Given the description of an element on the screen output the (x, y) to click on. 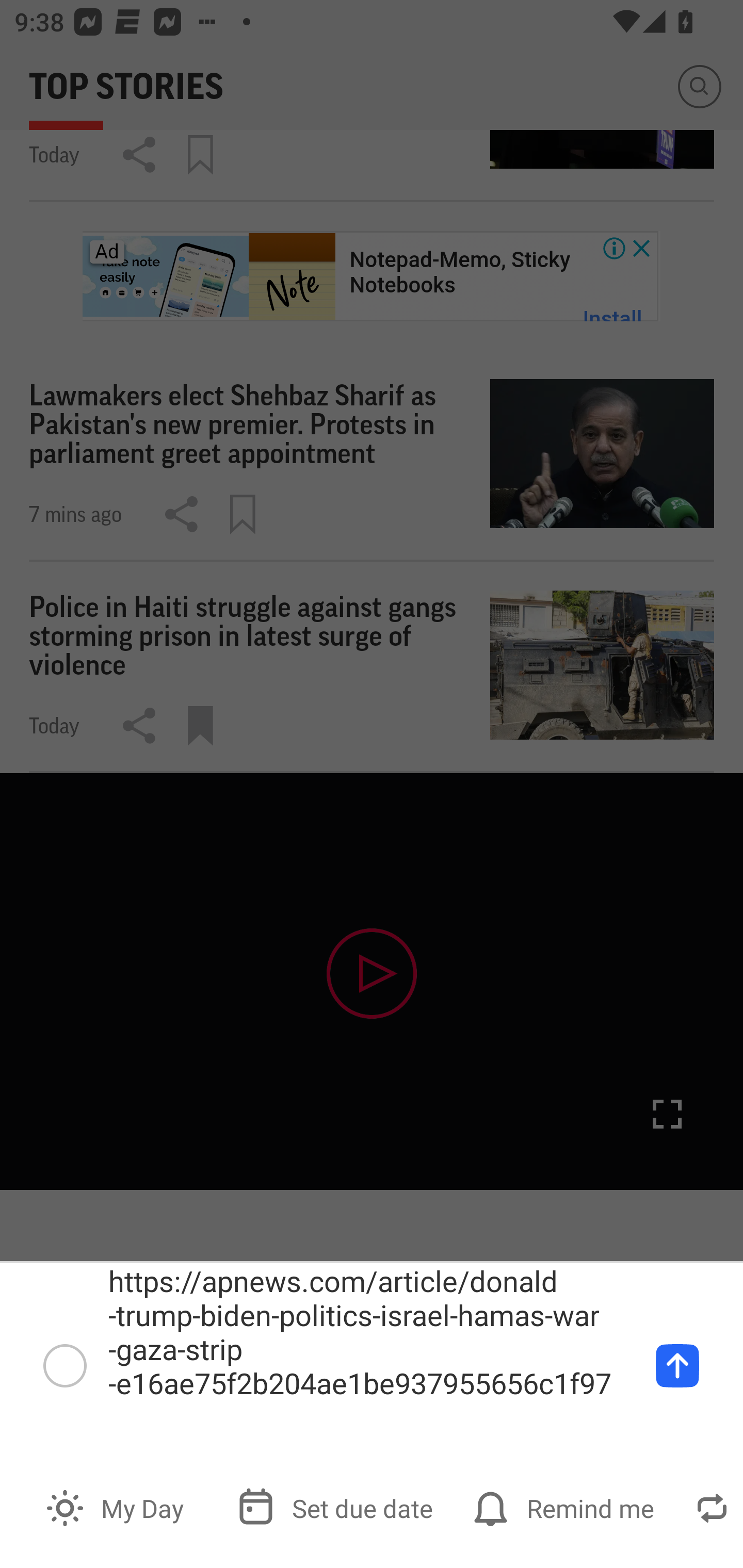
Add a task (676, 1365)
My Day (116, 1507)
Set due date (337, 1507)
Remind me (565, 1507)
